Given the description of an element on the screen output the (x, y) to click on. 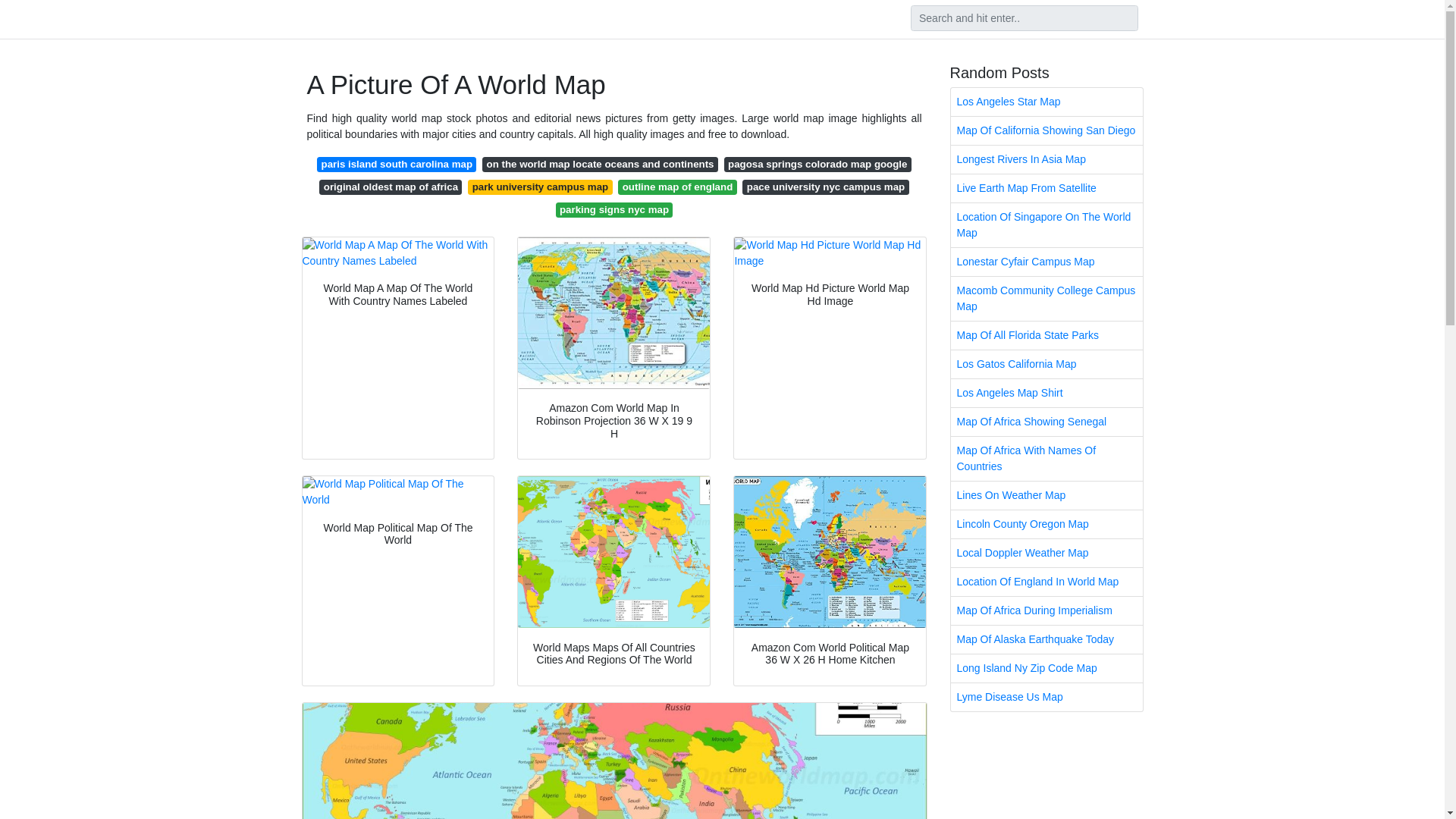
Lonestar Cyfair Campus Map (1046, 262)
Los Gatos California Map (1046, 364)
Location Of Singapore On The World Map (1046, 225)
Macomb Community College Campus Map (1046, 298)
pagosa springs colorado map google (817, 164)
Los Angeles Star Map (1046, 101)
Map Of All Florida State Parks (1046, 335)
pace university nyc campus map (825, 186)
parking signs nyc map (614, 209)
on the world map locate oceans and continents (599, 164)
